Given the description of an element on the screen output the (x, y) to click on. 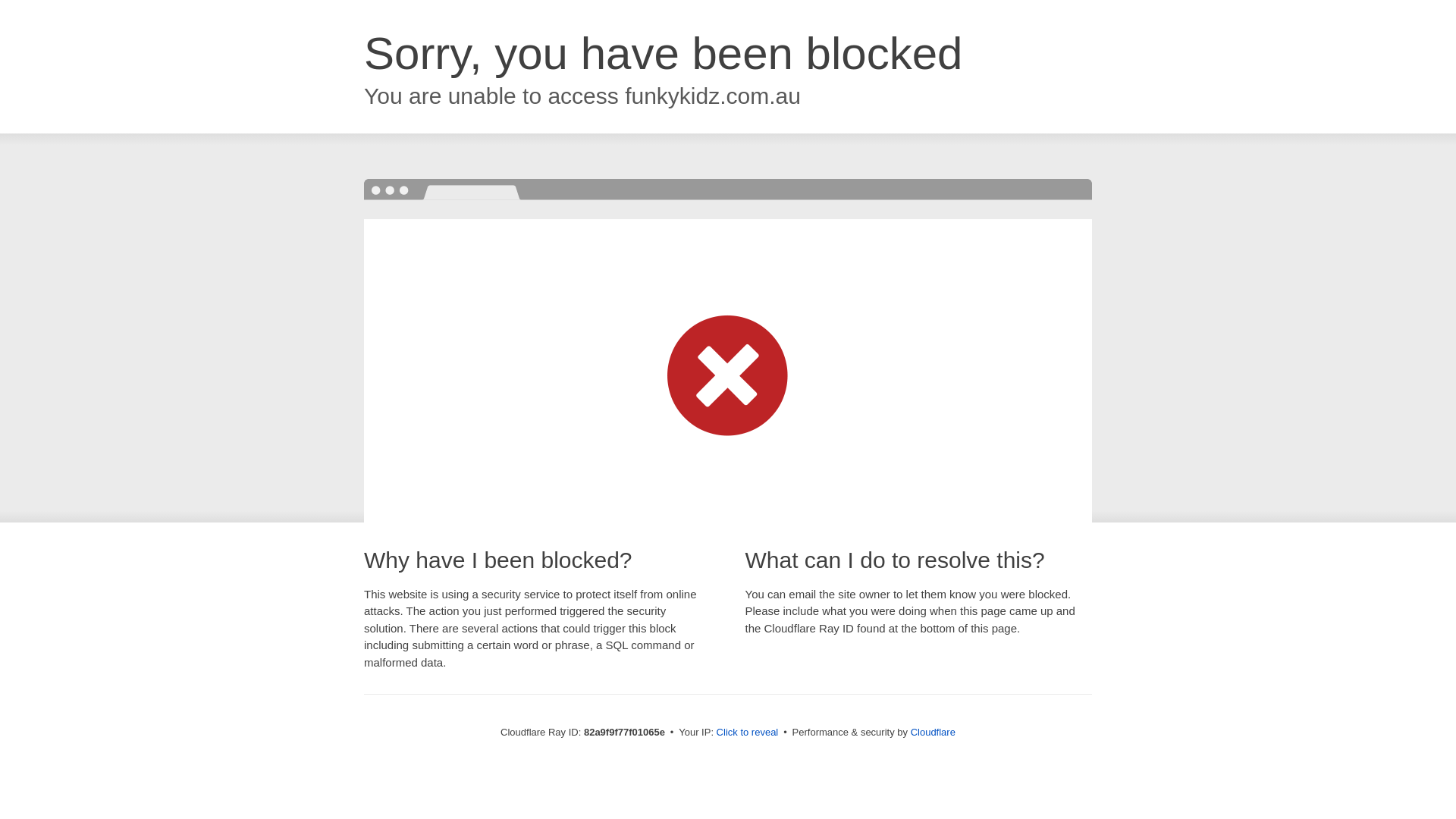
Cloudflare Element type: text (932, 731)
Click to reveal Element type: text (747, 732)
